Given the description of an element on the screen output the (x, y) to click on. 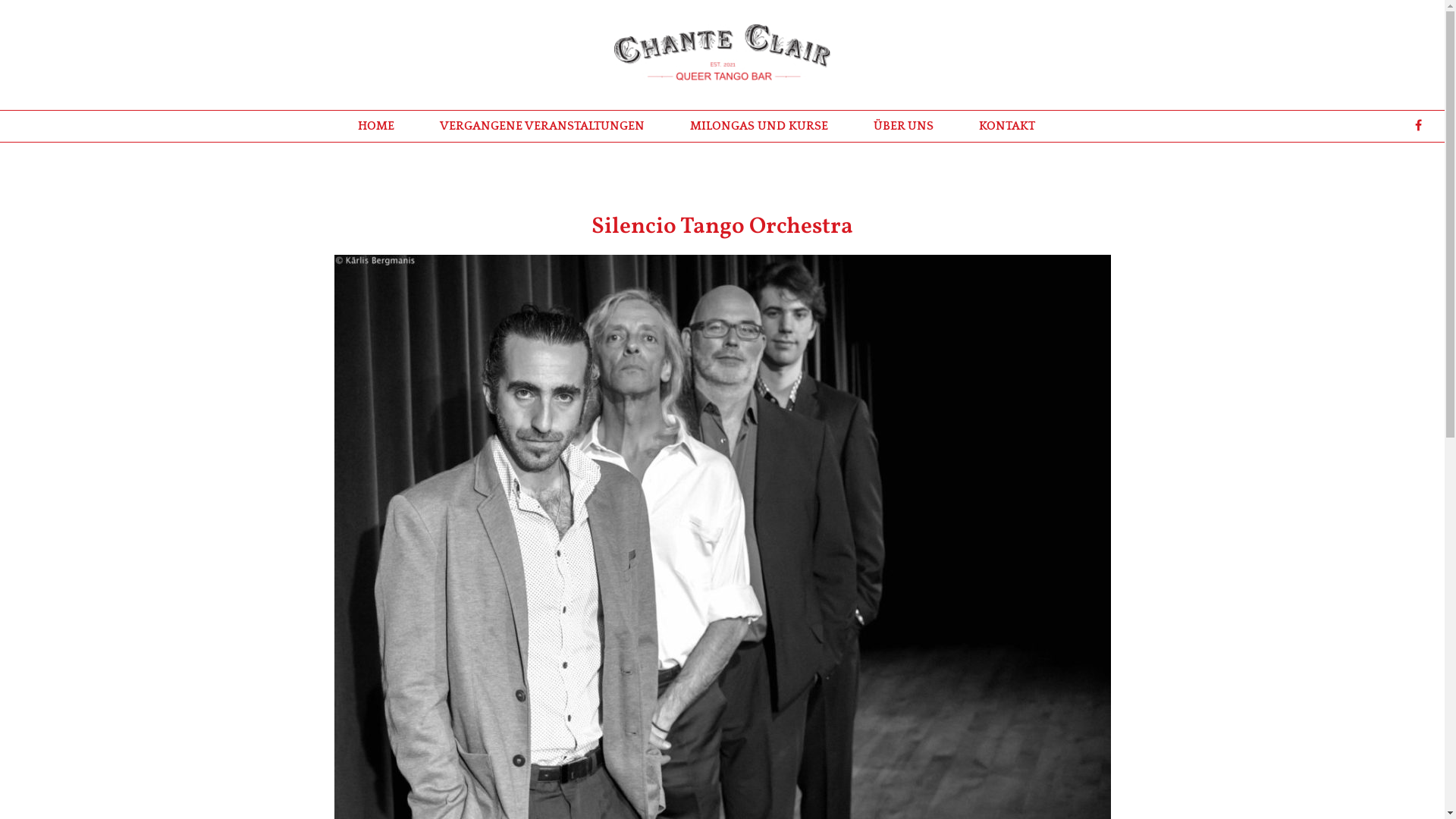
HOME Element type: text (376, 125)
KONTAKT Element type: text (1006, 125)
VERGANGENE VERANSTALTUNGEN Element type: text (542, 125)
MILONGAS UND KURSE Element type: text (758, 125)
